Given the description of an element on the screen output the (x, y) to click on. 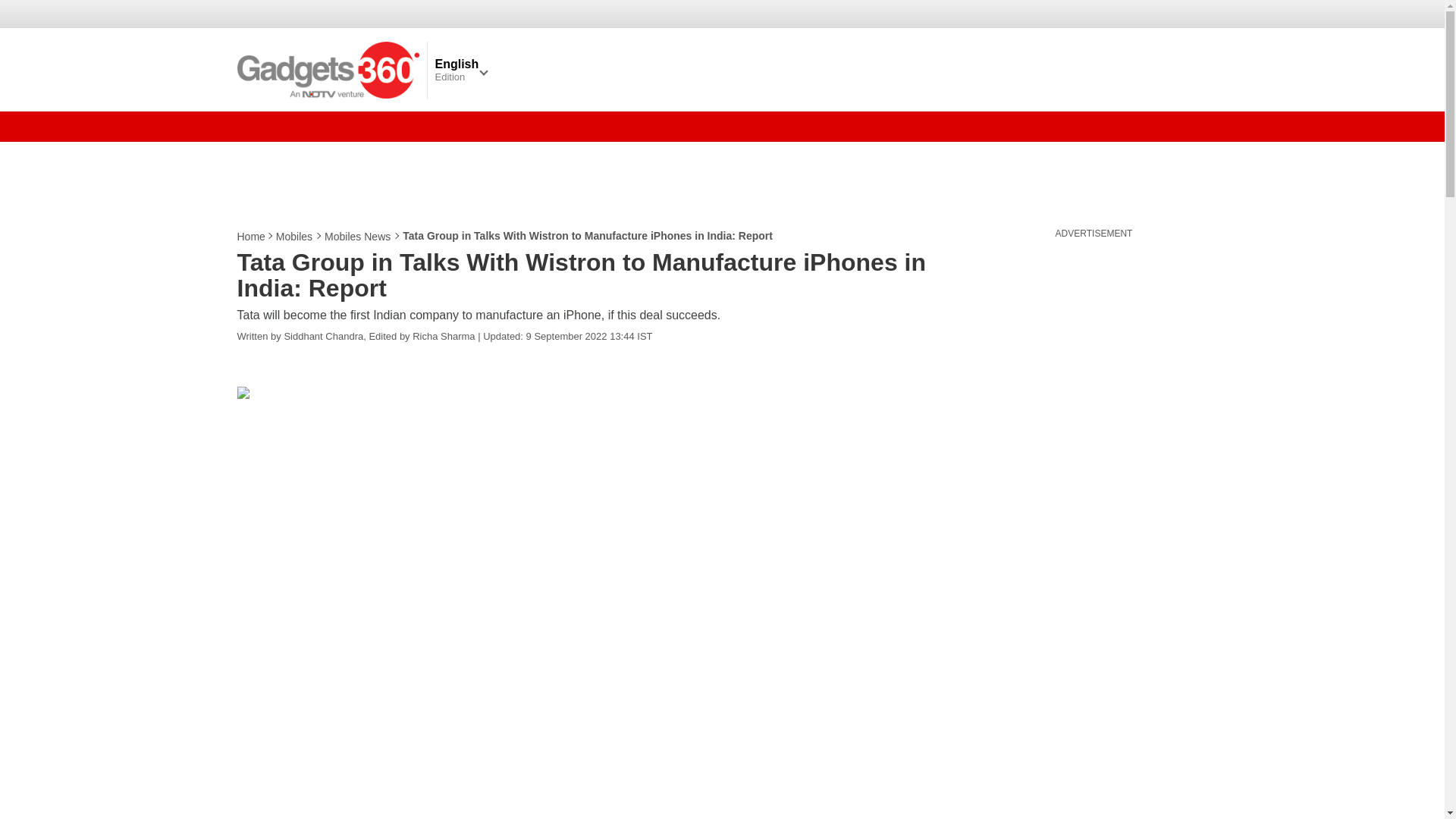
Gadgets 360 (327, 68)
Mobiles News (357, 236)
Mobiles (295, 236)
Home (250, 236)
Mobiles (295, 236)
Home (250, 236)
Mobiles News (357, 236)
